Given the description of an element on the screen output the (x, y) to click on. 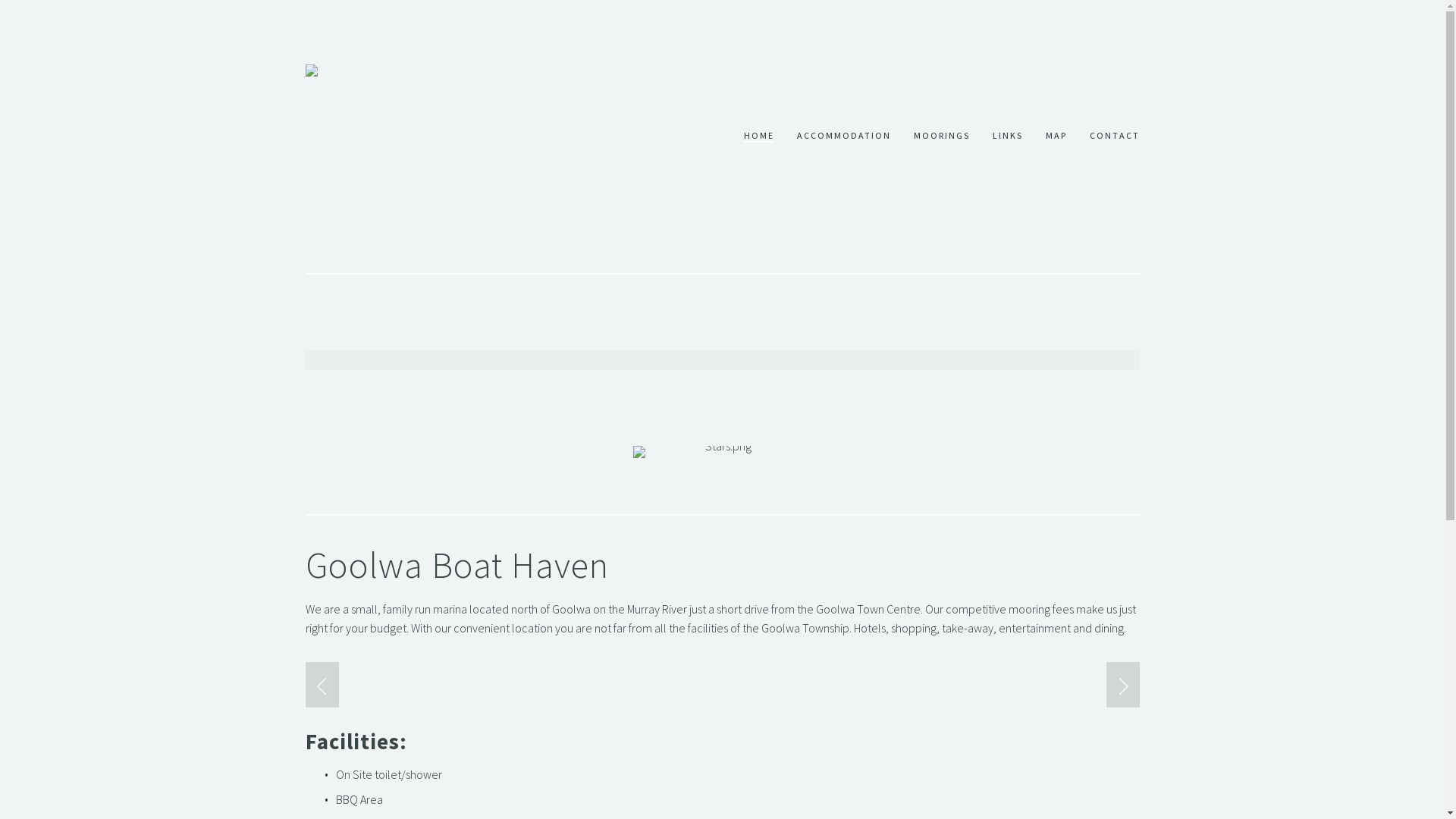
ACCOMMODATION Element type: text (843, 135)
HOME Element type: text (758, 136)
CONTACT Element type: text (1113, 136)
LINKS Element type: text (1006, 136)
MOORINGS Element type: text (941, 136)
MAP Element type: text (1055, 136)
